Given the description of an element on the screen output the (x, y) to click on. 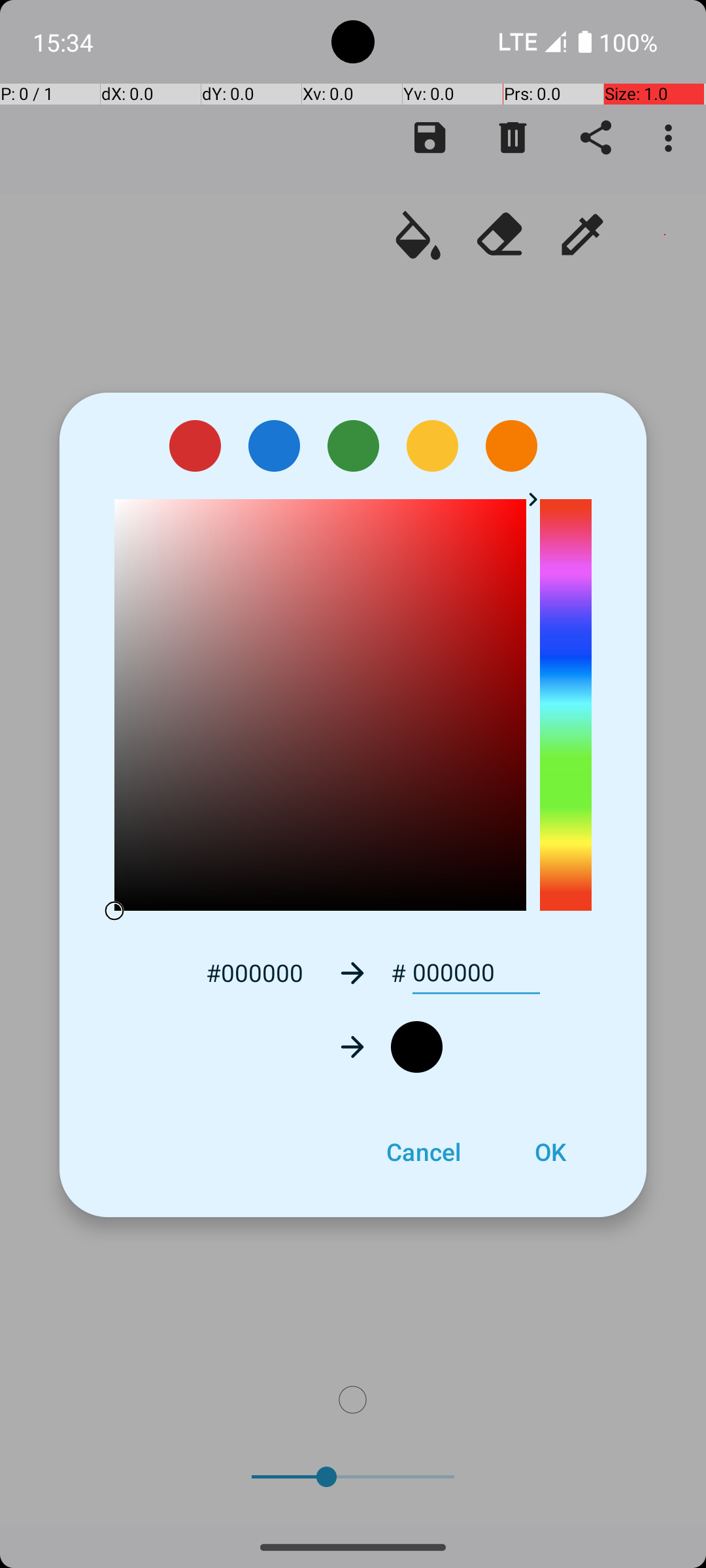
#000000 Element type: android.widget.TextView (254, 972)
000000 Element type: android.widget.EditText (475, 972)
